Given the description of an element on the screen output the (x, y) to click on. 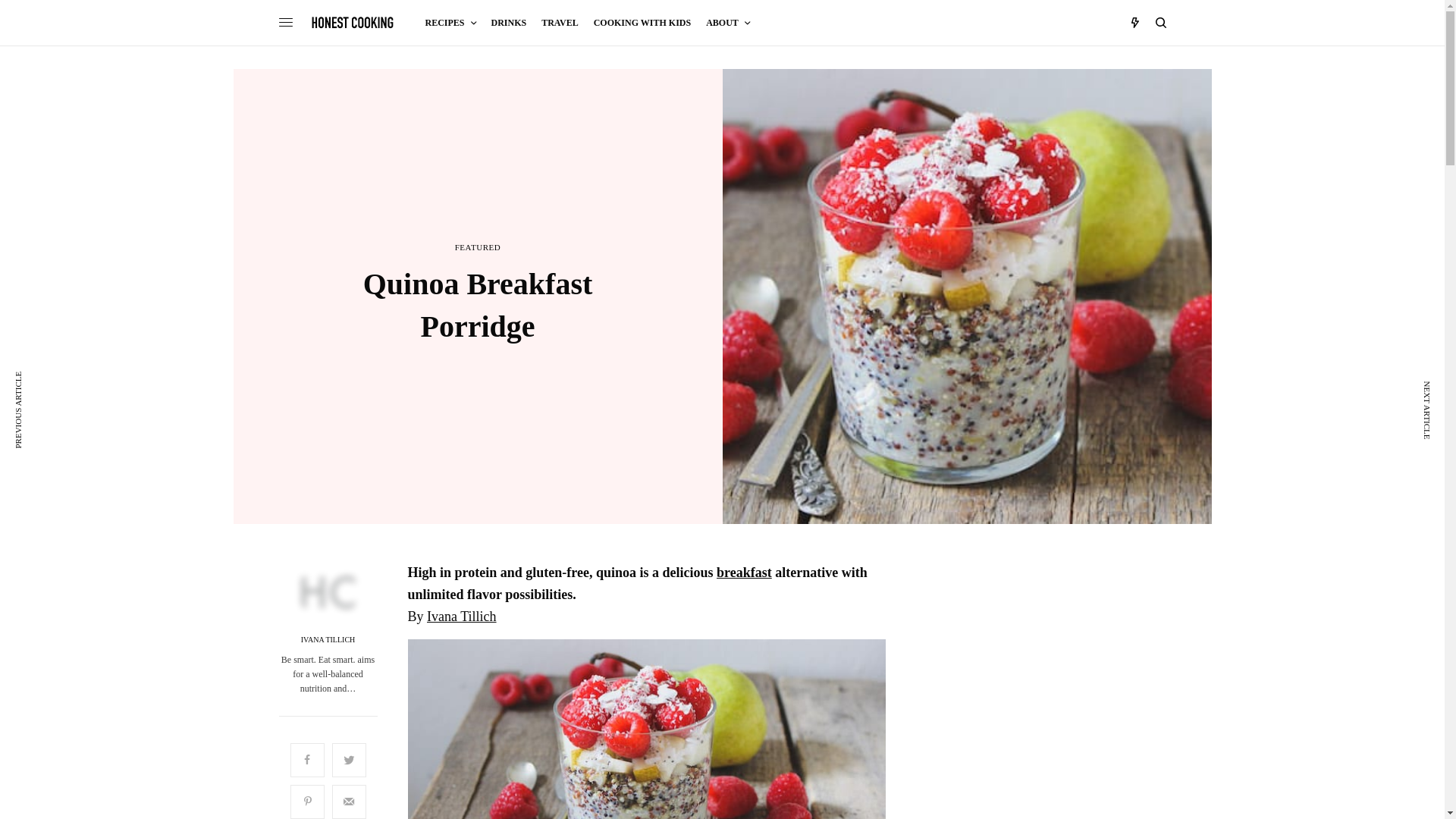
ABOUT (727, 22)
FEATURED (477, 247)
RECIPES (450, 22)
IVANA TILLICH (328, 639)
Honest Cooking (352, 22)
COOKING WITH KIDS (642, 22)
